Given the description of an element on the screen output the (x, y) to click on. 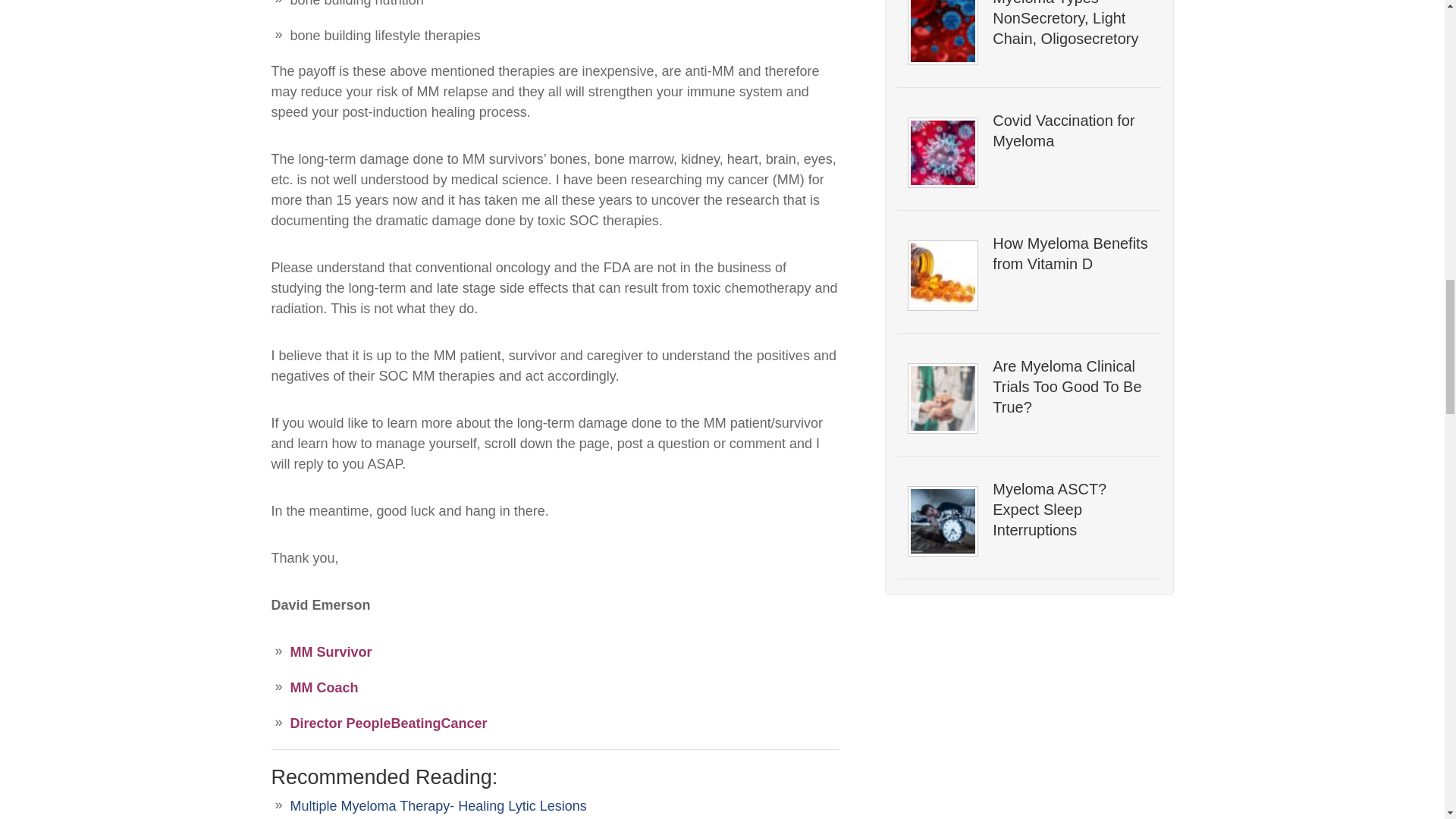
How Myeloma Benefits from Vitamin D (1071, 253)
Are Myeloma Clinical Trials Too Good To Be True? (1071, 386)
Covid Vaccination for Myeloma (1071, 130)
Myeloma Types- NonSecretory, Light Chain, Oligosecretory (1071, 24)
Myeloma ASCT? Expect Sleep Interruptions (1071, 509)
